Given the description of an element on the screen output the (x, y) to click on. 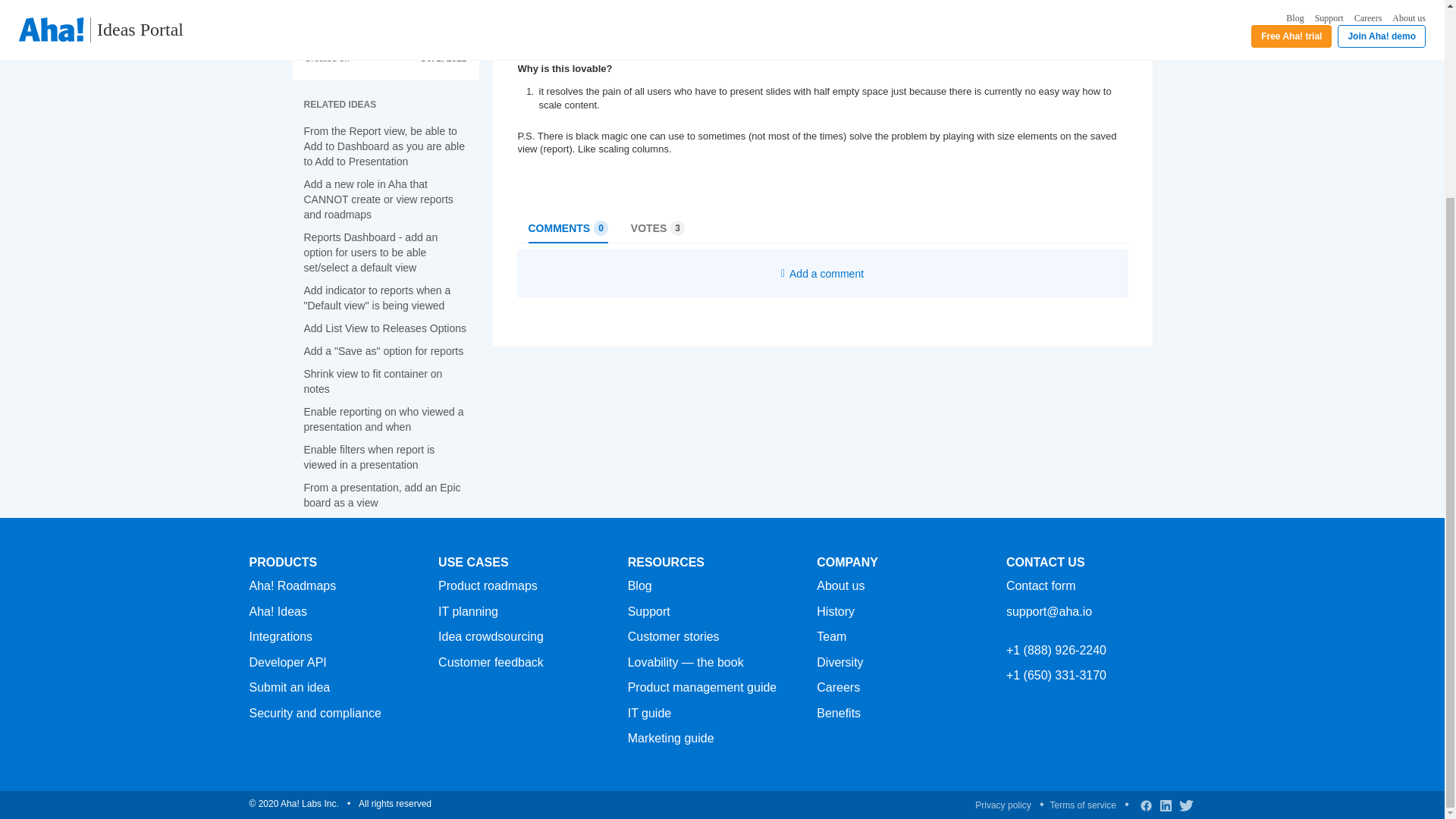
Add List View to Releases Options (383, 328)
From a presentation, add an Epic board as a view (381, 494)
Enable reporting on who viewed a presentation and when (382, 419)
Enable filters when report is viewed in a presentation (367, 456)
Shrink view to fit container on notes (567, 227)
